Given the description of an element on the screen output the (x, y) to click on. 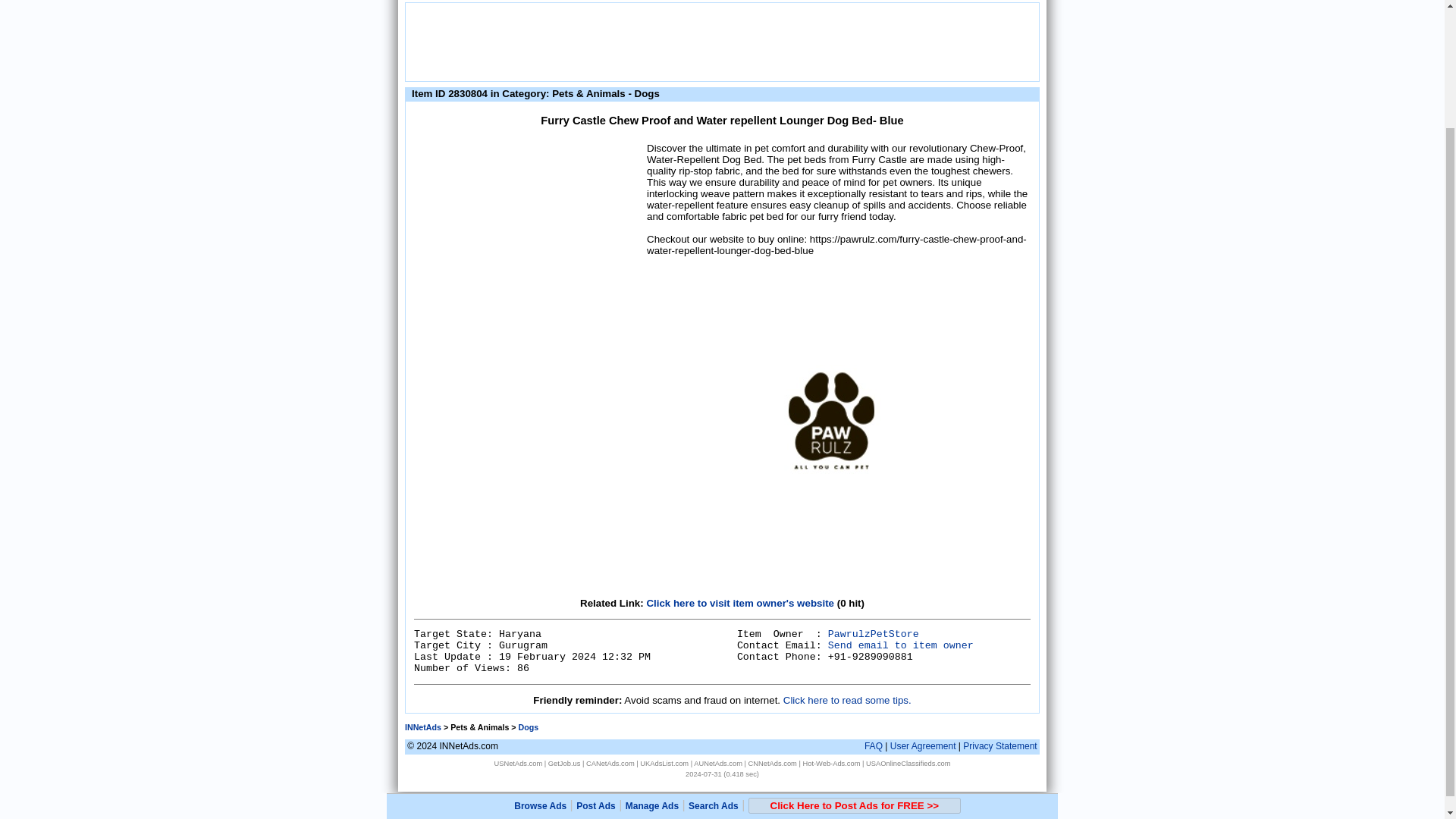
UKAdsList.com (664, 763)
Search Ads (713, 662)
Click here to read some tips. (847, 699)
Hot-Web-Ads.com (831, 763)
INNetAds (422, 727)
Click here to visit item owner's website (740, 603)
USNetAds.com (517, 763)
Advertisement (721, 40)
Browse all items posted by this owner (873, 633)
Advertisement (527, 235)
USAOnlineClassifieds.com (908, 763)
AUNetAds.com (718, 763)
Dogs (528, 727)
PawrulzPetStore (873, 633)
GetJob.us (564, 763)
